Given the description of an element on the screen output the (x, y) to click on. 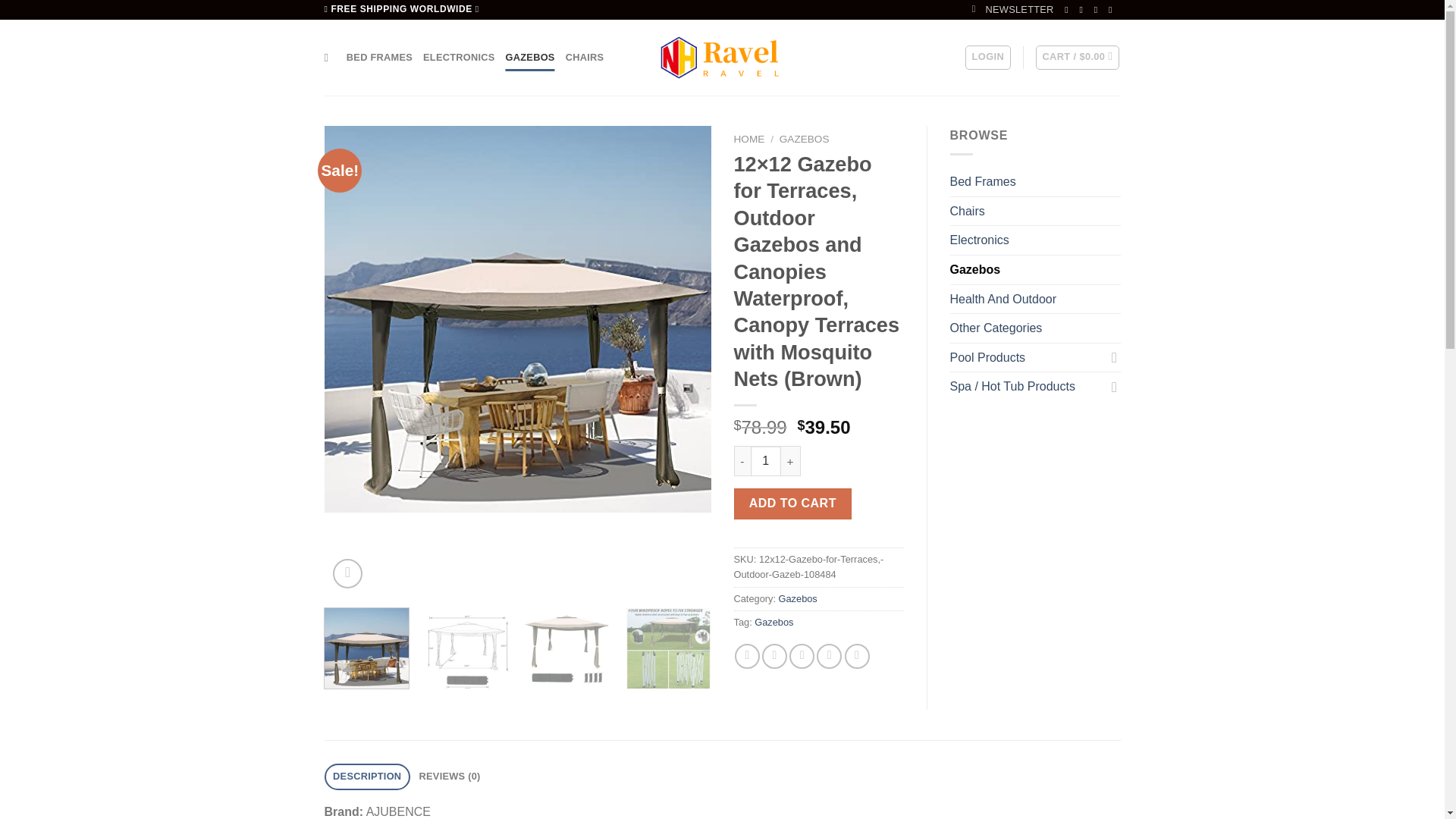
GAZEBOS (529, 57)
1 (765, 460)
CHAIRS (585, 57)
Gazebos (773, 622)
ELECTRONICS (459, 57)
Cart (1077, 57)
LOGIN (987, 57)
HOME (749, 138)
Gazebos (797, 598)
Sign up for Newsletter (1013, 9)
COOLTRAVELGEAR (722, 57)
NEWSLETTER (1013, 9)
BED FRAMES (379, 57)
ADD TO CART (792, 503)
